Given the description of an element on the screen output the (x, y) to click on. 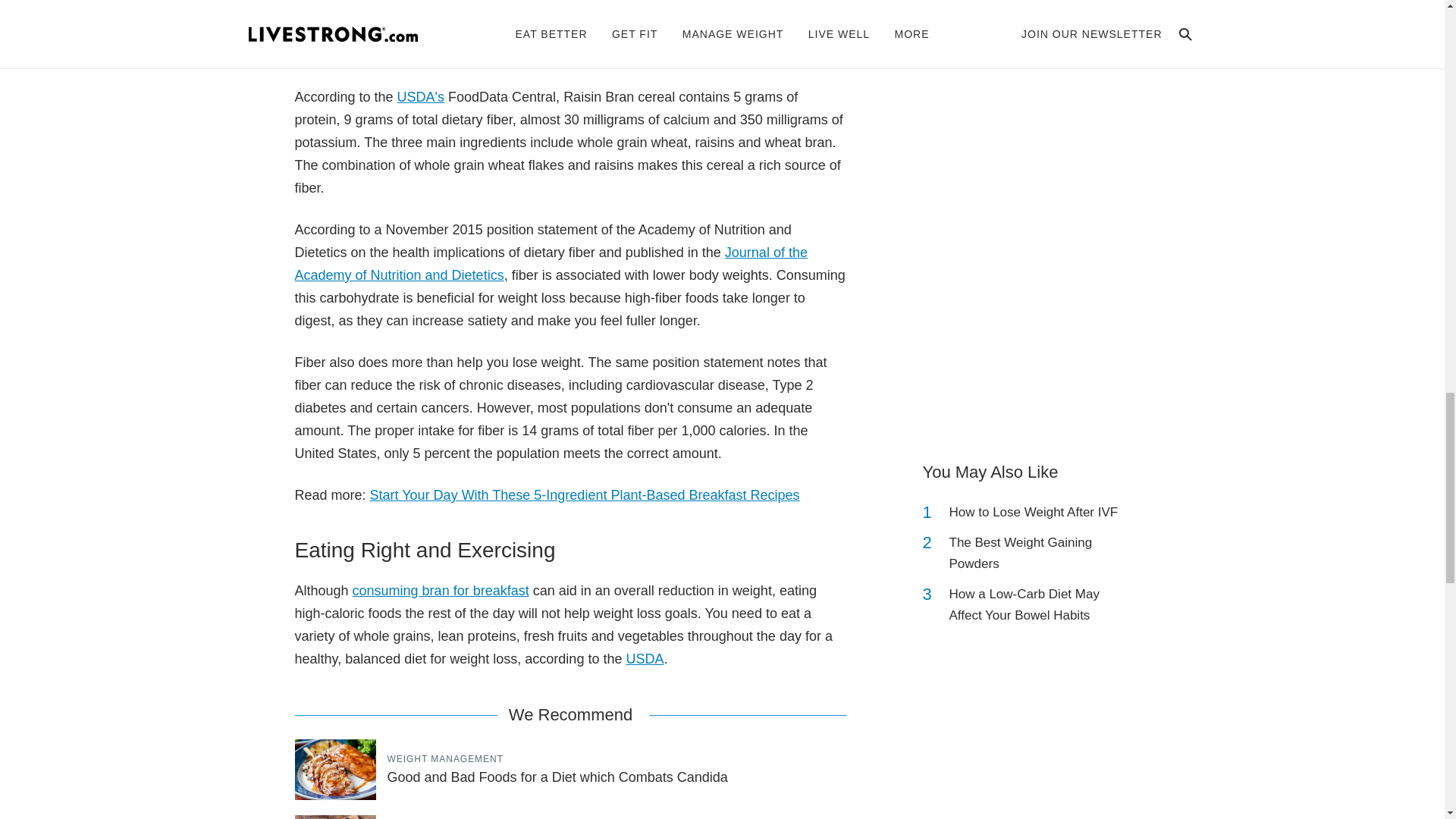
Journal of the Academy of Nutrition and Dietetics (550, 263)
How to Lose Weight After IVF (1033, 512)
USDA's (420, 96)
Good and Bad Foods for a Diet which Combats Candida (556, 776)
The Best Weight Gaining Powders (1042, 553)
USDA (644, 658)
consuming bran for breakfast (440, 590)
How a Low-Carb Diet May Affect Your Bowel Habits (1042, 604)
